Given the description of an element on the screen output the (x, y) to click on. 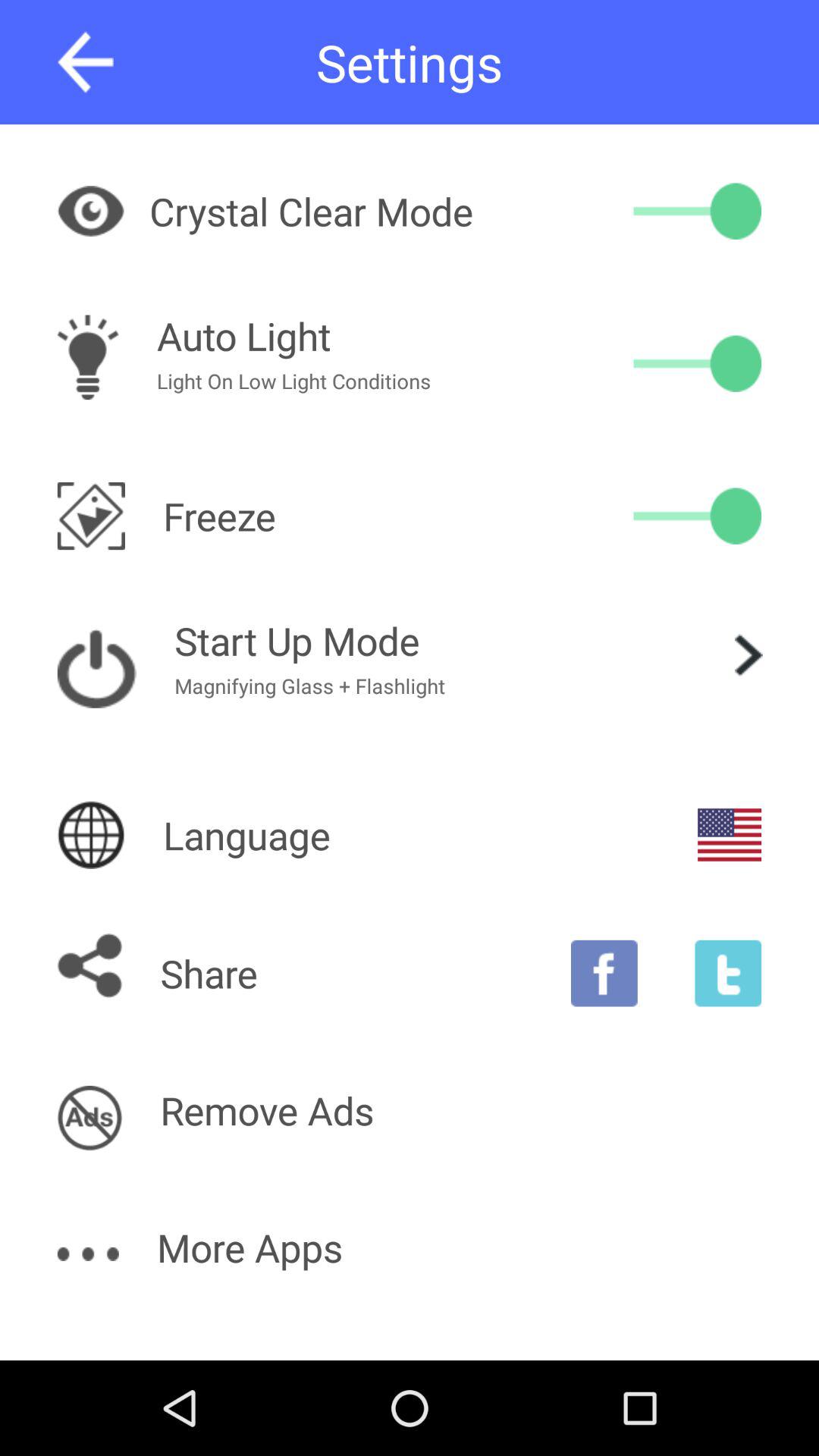
toggle freeze (697, 515)
